Given the description of an element on the screen output the (x, y) to click on. 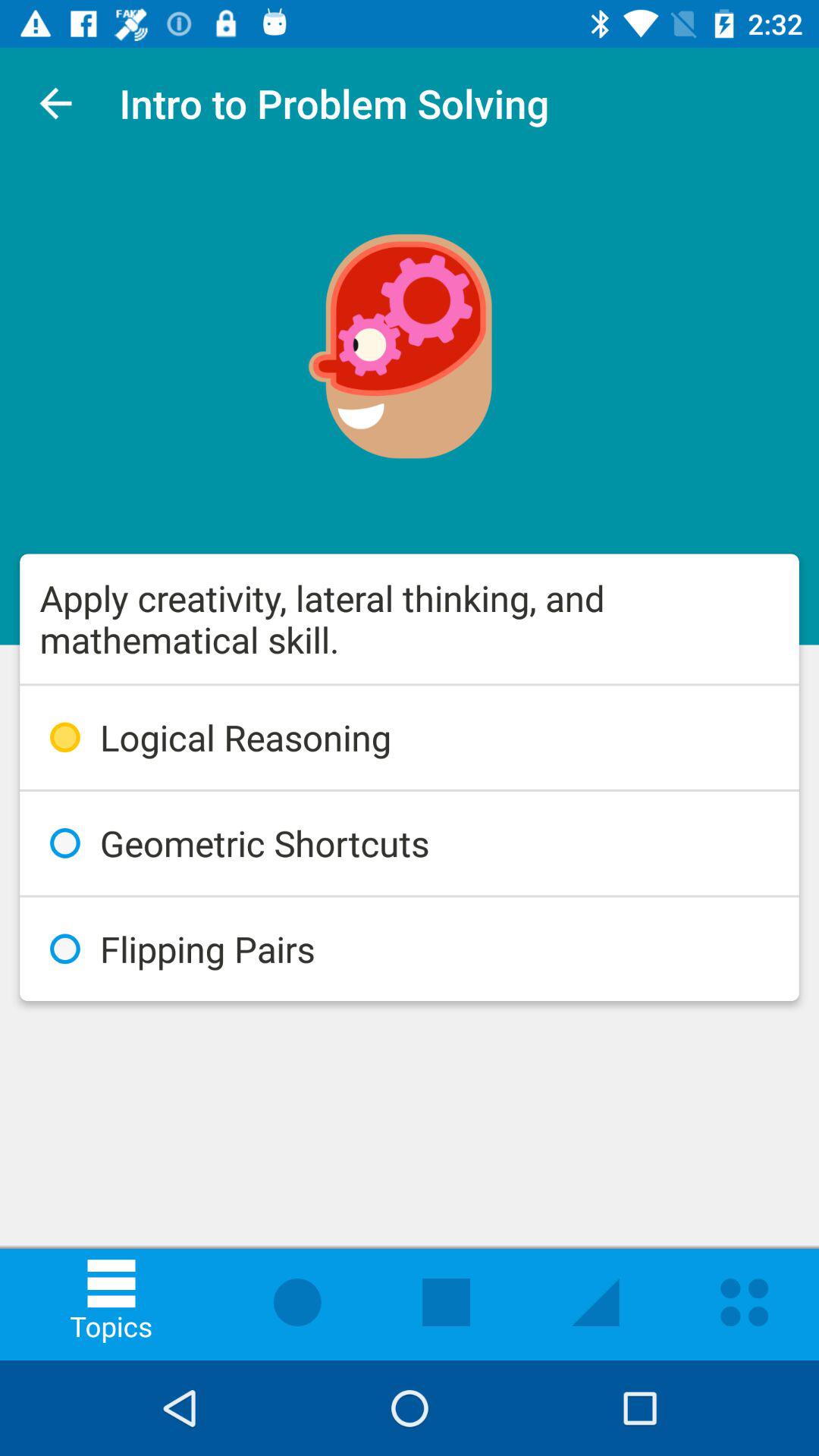
tap the app next to the intro to problem item (55, 103)
